Given the description of an element on the screen output the (x, y) to click on. 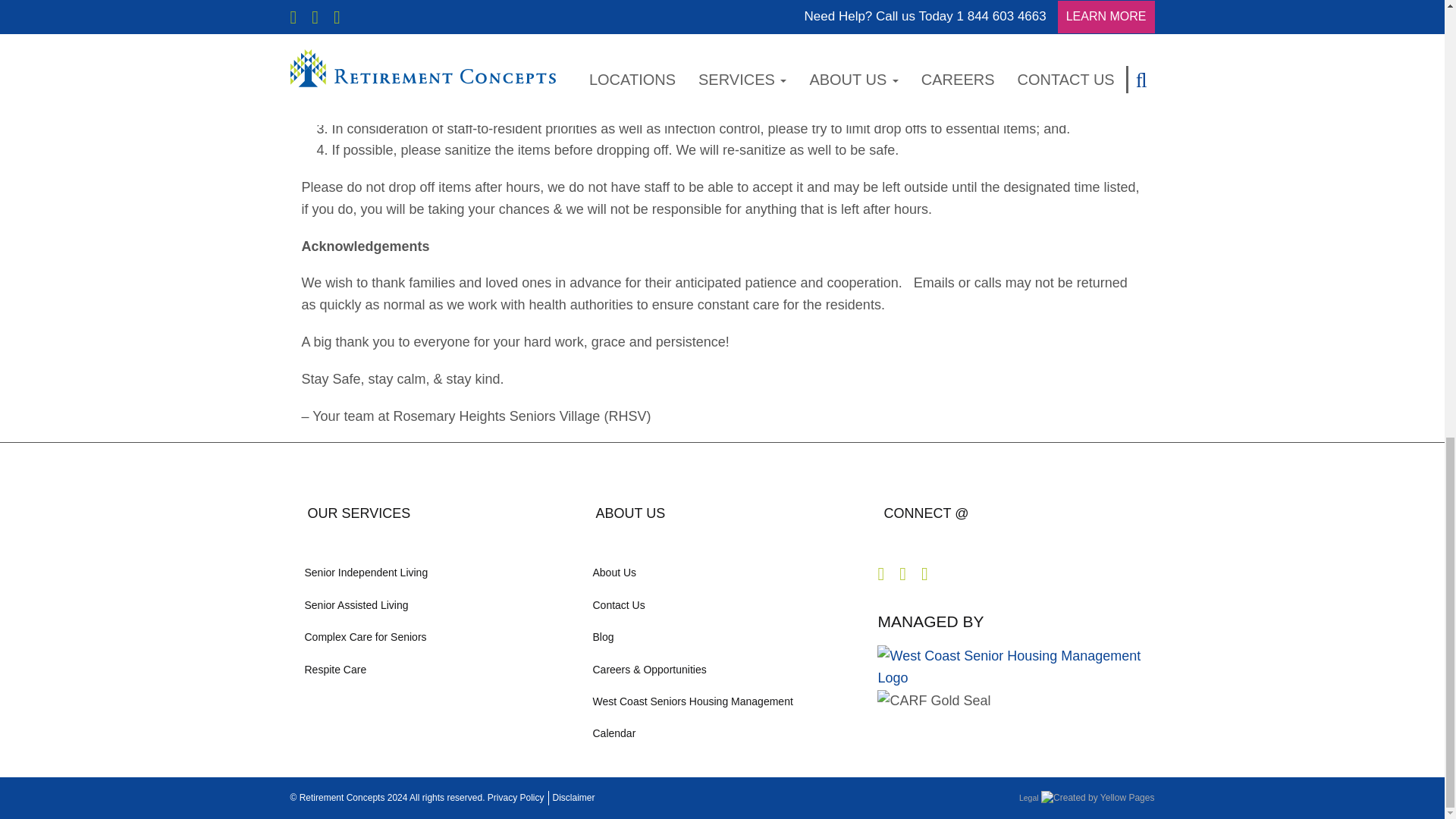
Legal (1029, 797)
Respite Care (434, 669)
West Coast Seniors Housing Management (721, 701)
Contact Us (721, 604)
Complex Care for Seniors (434, 636)
Blog (721, 636)
Senior Assisted Living (434, 604)
Disclaimer (572, 797)
Calendar (721, 733)
Privacy Policy (515, 797)
About Us (721, 572)
Senior Independent Living (434, 572)
